Given the description of an element on the screen output the (x, y) to click on. 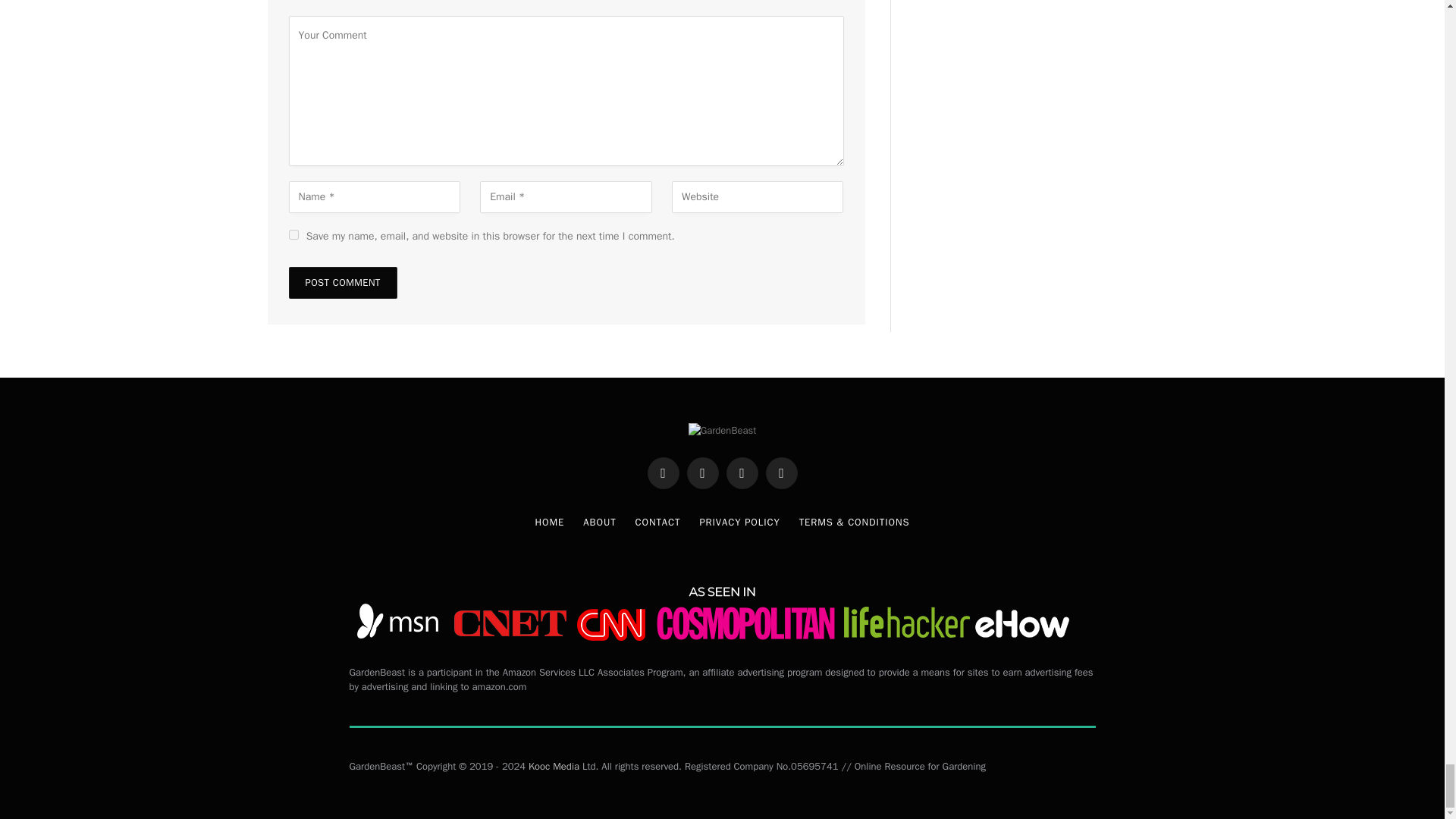
Post Comment (342, 282)
yes (293, 234)
